Given the description of an element on the screen output the (x, y) to click on. 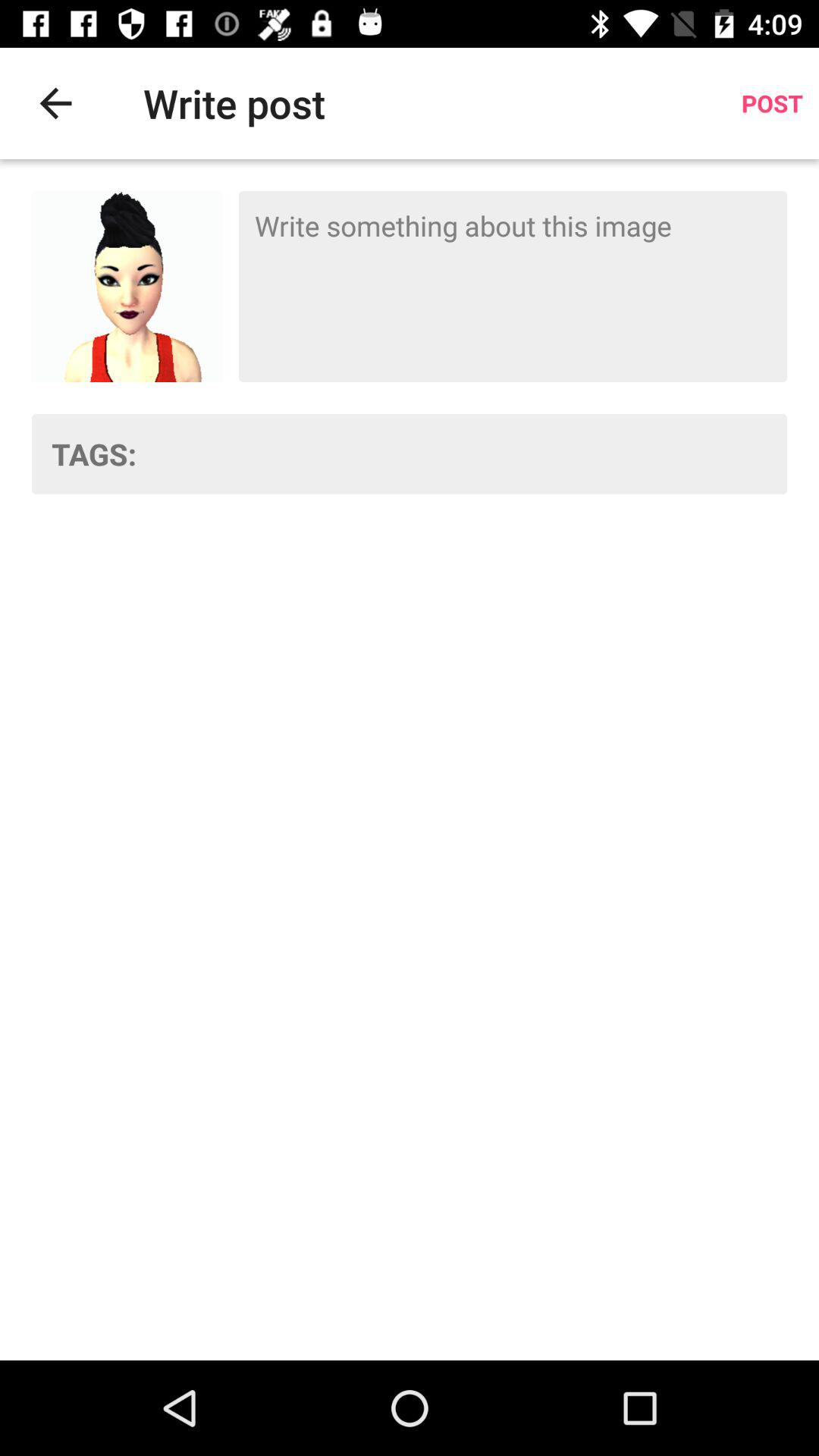
press the item to the right of the tags: item (471, 454)
